Given the description of an element on the screen output the (x, y) to click on. 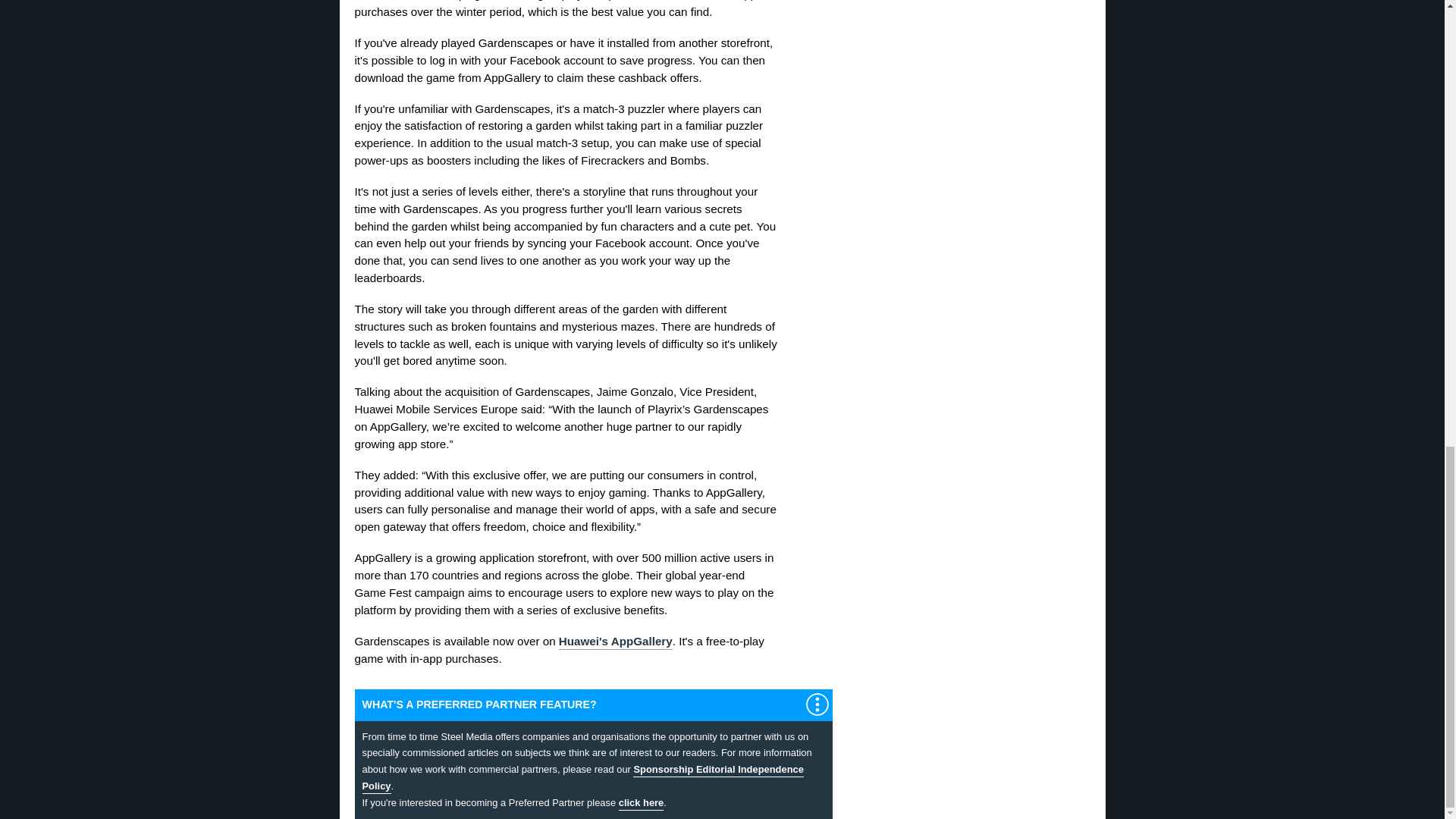
click here (640, 803)
Huawei's AppGallery (615, 642)
Sponsorship Editorial Independence Policy (582, 778)
